Given the description of an element on the screen output the (x, y) to click on. 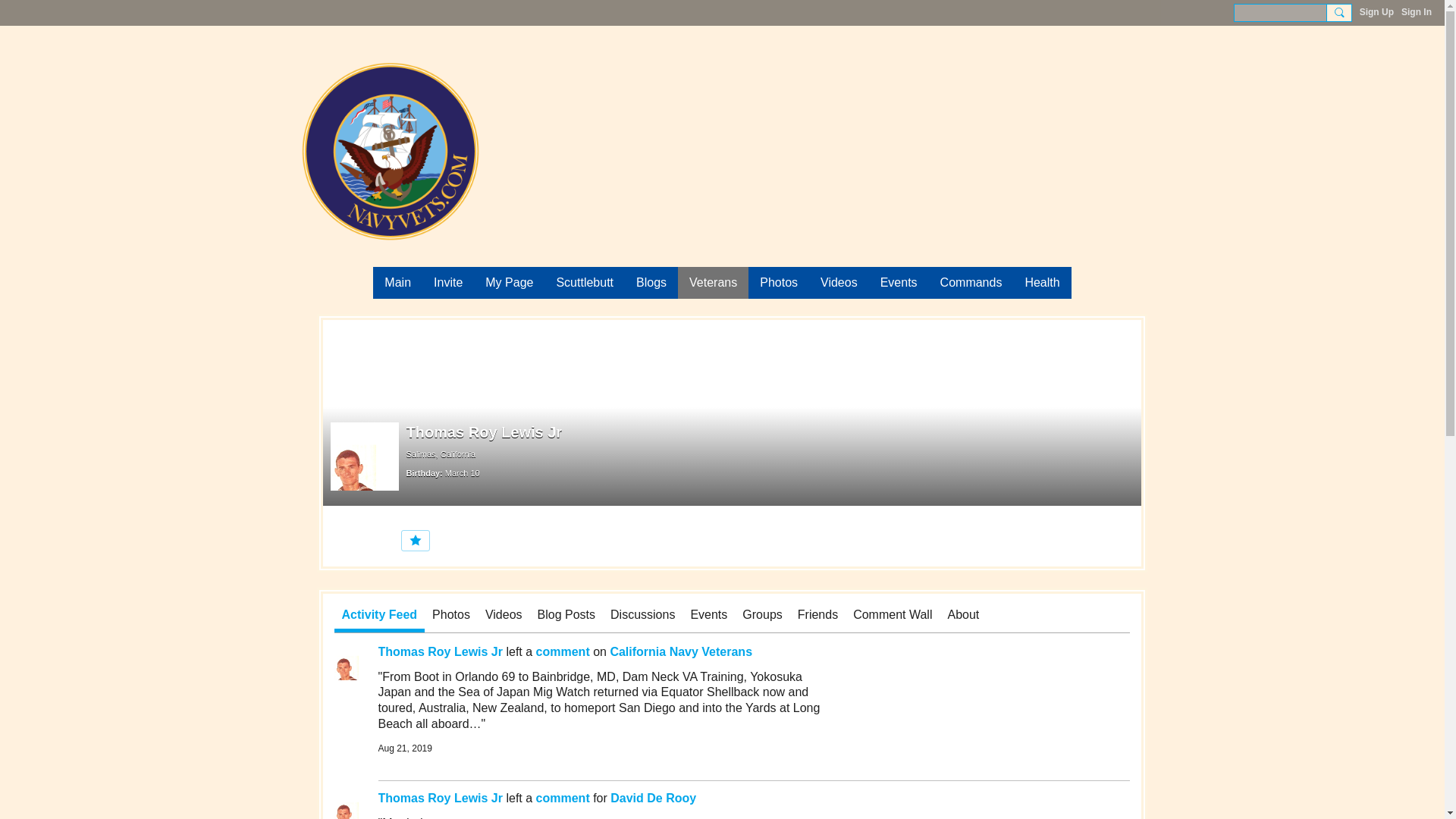
Thomas Roy Lewis Jr (439, 651)
Invite (448, 282)
My Page (509, 282)
Veterans (713, 282)
David De Rooy (652, 797)
comment (562, 651)
Photos (778, 282)
Health (1041, 282)
Sign In (1415, 12)
Main (397, 282)
comment (562, 797)
Promote (414, 540)
Sign Up (1376, 12)
California Navy Veterans (681, 651)
Commands (970, 282)
